Given the description of an element on the screen output the (x, y) to click on. 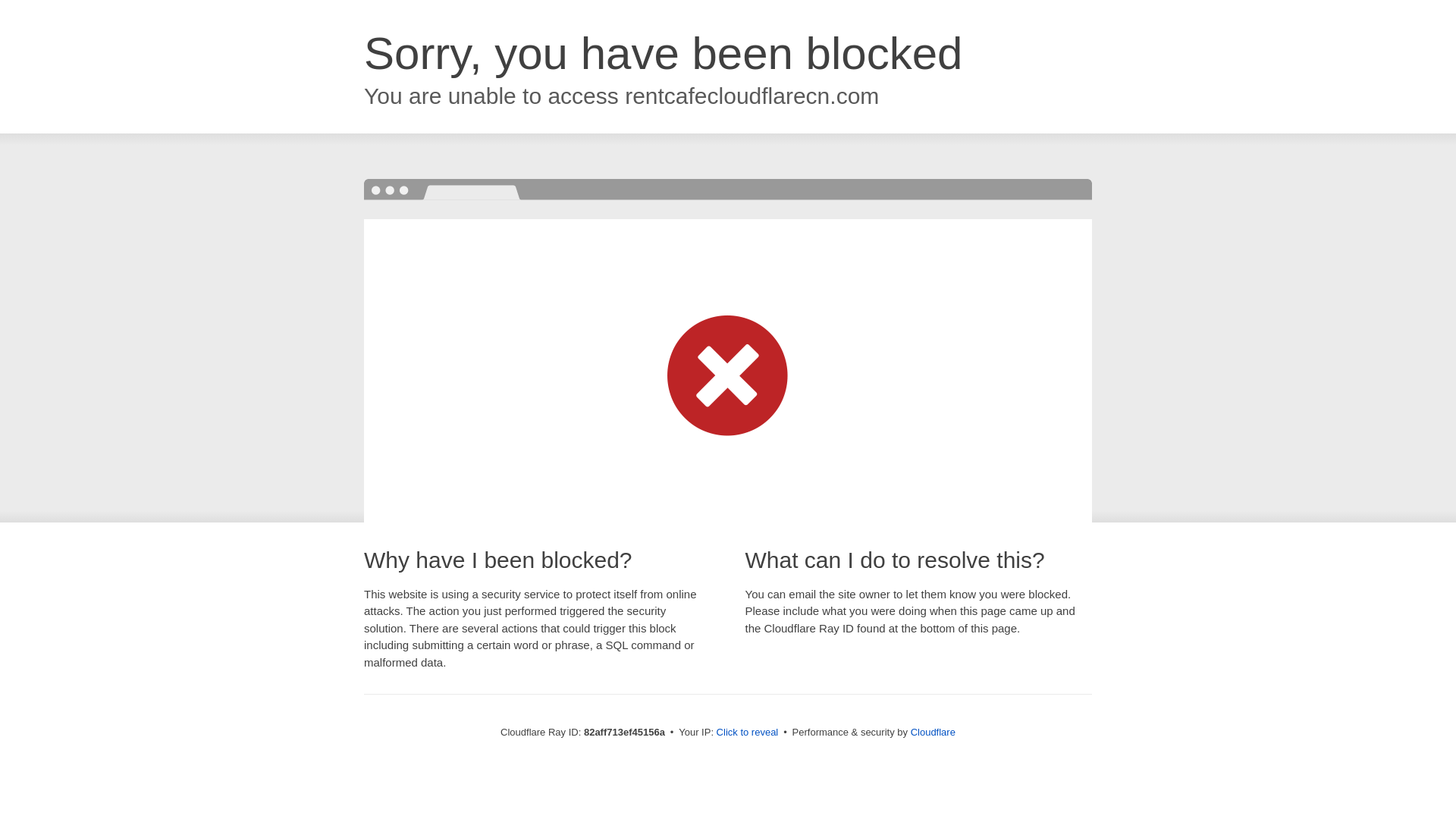
Click to reveal Element type: text (747, 732)
Cloudflare Element type: text (932, 731)
